Given the description of an element on the screen output the (x, y) to click on. 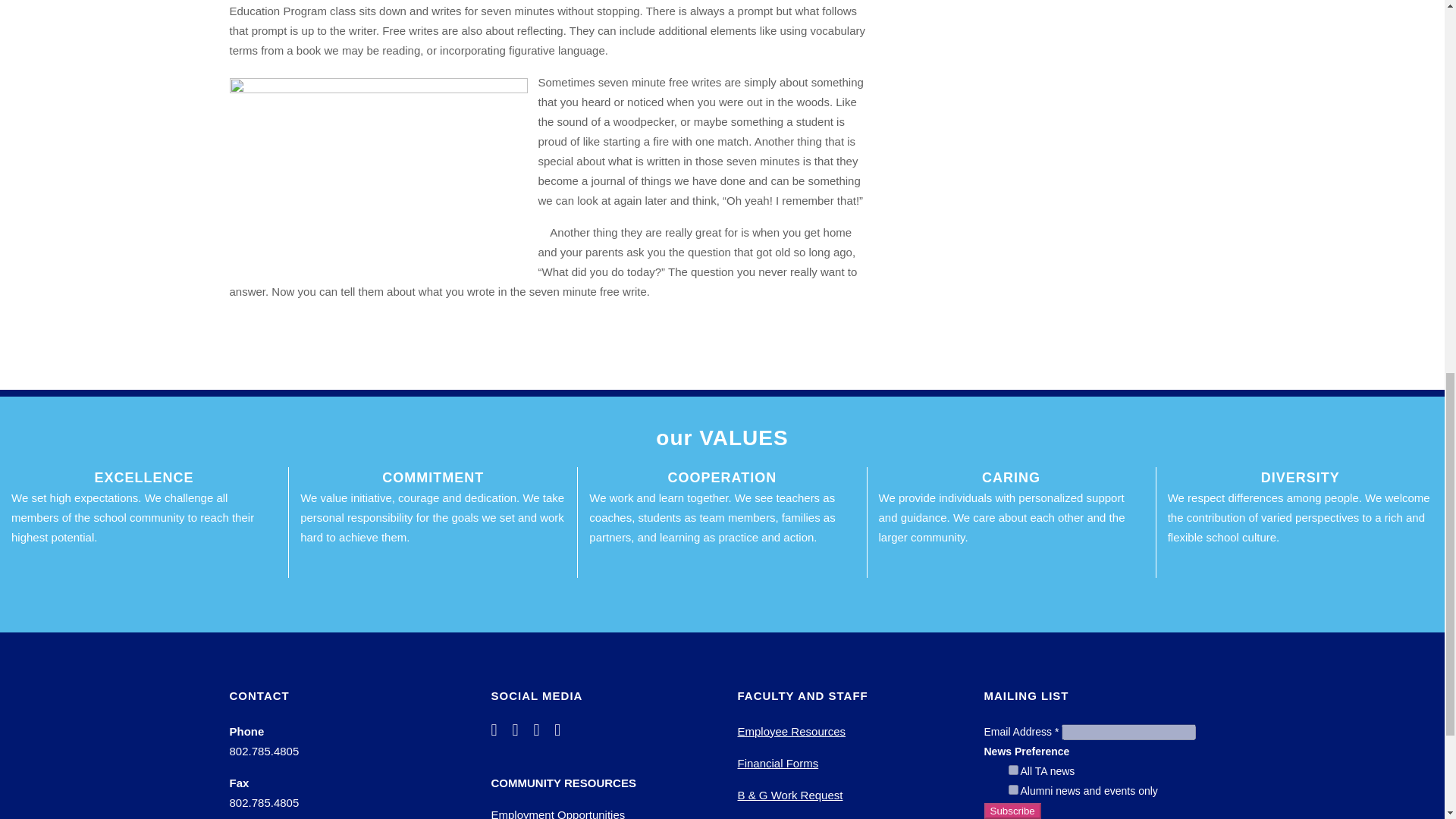
2 (1013, 789)
Subscribe (1012, 811)
1 (1013, 769)
Employment Opportunities (559, 813)
